Given the description of an element on the screen output the (x, y) to click on. 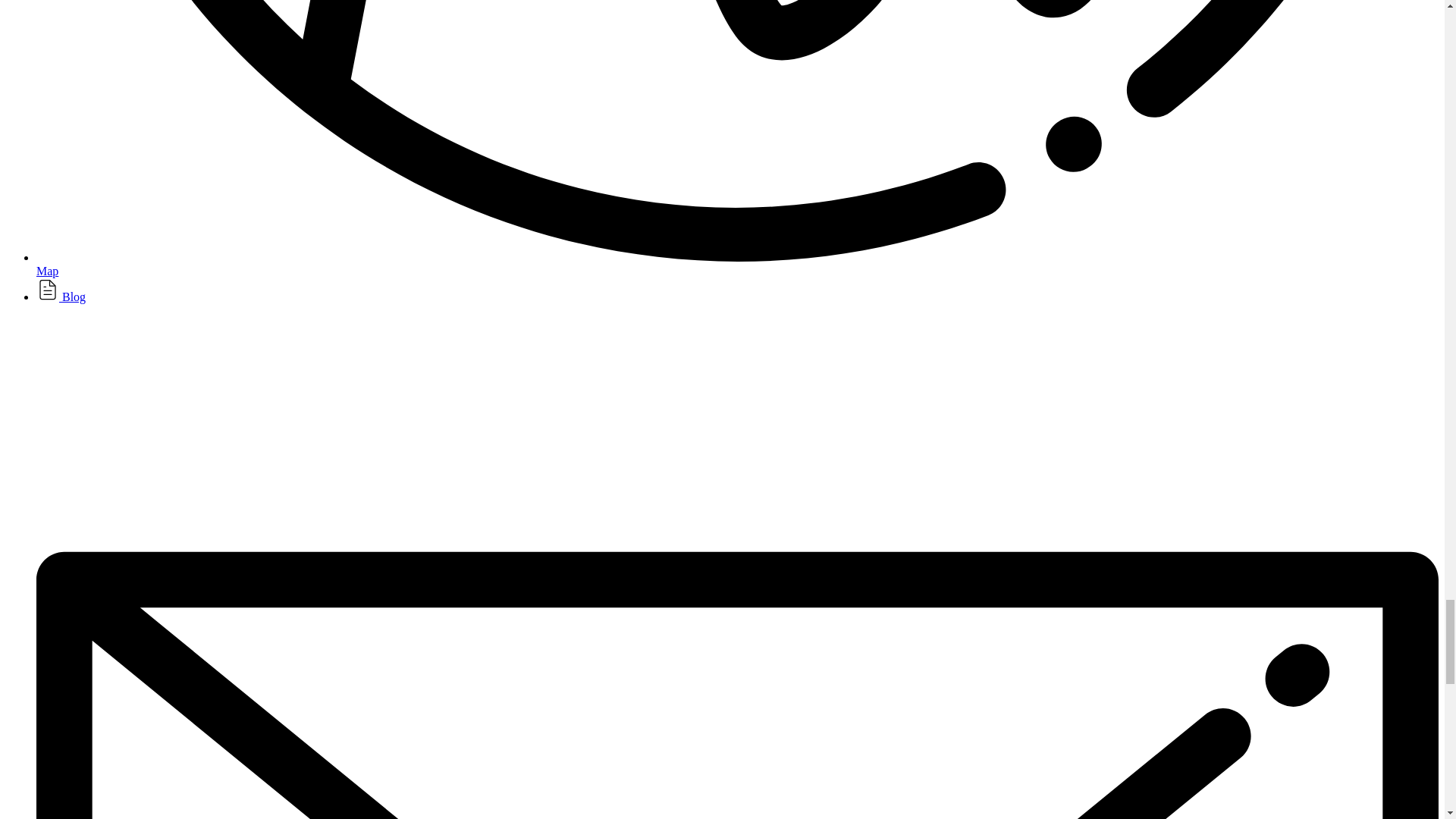
Blog (60, 296)
